Given the description of an element on the screen output the (x, y) to click on. 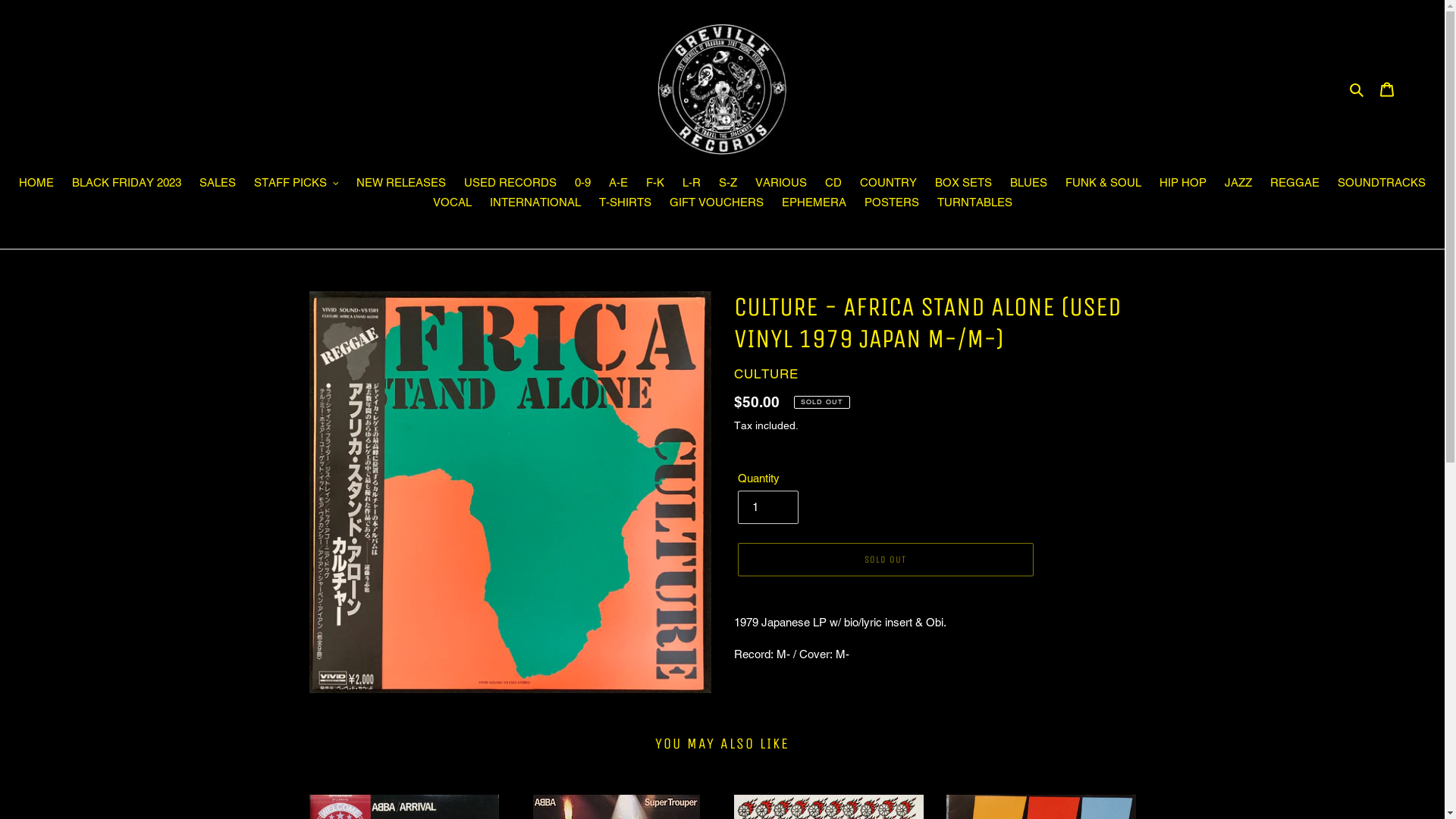
FUNK & SOUL Element type: text (1102, 184)
COUNTRY Element type: text (888, 184)
EPHEMERA Element type: text (813, 203)
VARIOUS Element type: text (780, 184)
F-K Element type: text (654, 184)
0-9 Element type: text (582, 184)
GIFT VOUCHERS Element type: text (715, 203)
NEW RELEASES Element type: text (400, 184)
S-Z Element type: text (727, 184)
Cart Element type: text (1386, 88)
SOLD OUT Element type: text (884, 559)
HIP HOP Element type: text (1182, 184)
SOUNDTRACKS Element type: text (1381, 184)
CD Element type: text (833, 184)
BLACK FRIDAY 2023 Element type: text (126, 184)
INTERNATIONAL Element type: text (535, 203)
BOX SETS Element type: text (963, 184)
CULTURE Element type: text (766, 373)
HOME Element type: text (36, 184)
SALES Element type: text (217, 184)
BLUES Element type: text (1028, 184)
REGGAE Element type: text (1294, 184)
A-E Element type: text (618, 184)
L-R Element type: text (691, 184)
JAZZ Element type: text (1238, 184)
STAFF PICKS Element type: text (296, 184)
T-SHIRTS Element type: text (624, 203)
POSTERS Element type: text (891, 203)
TURNTABLES Element type: text (974, 203)
USED RECORDS Element type: text (510, 184)
Search Element type: text (1357, 88)
VOCAL Element type: text (451, 203)
